Given the description of an element on the screen output the (x, y) to click on. 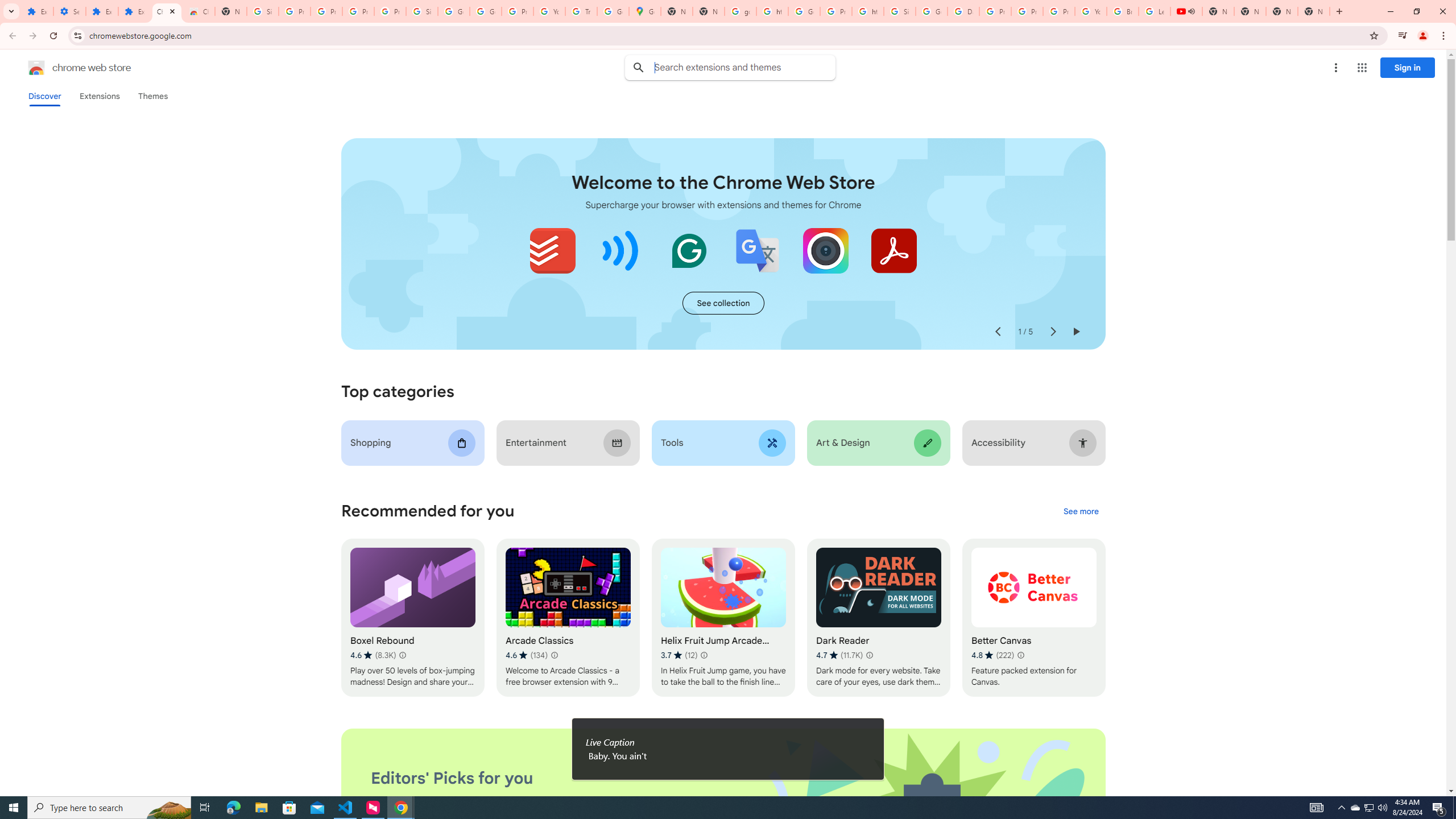
Previous slide (997, 331)
Learn more about results and reviews "Boxel Rebound" (402, 655)
Extensions (99, 95)
Sign in - Google Accounts (262, 11)
Privacy Help Center - Policies Help (1027, 11)
Dark Reader (878, 617)
Accessibility (1033, 443)
